Given the description of an element on the screen output the (x, y) to click on. 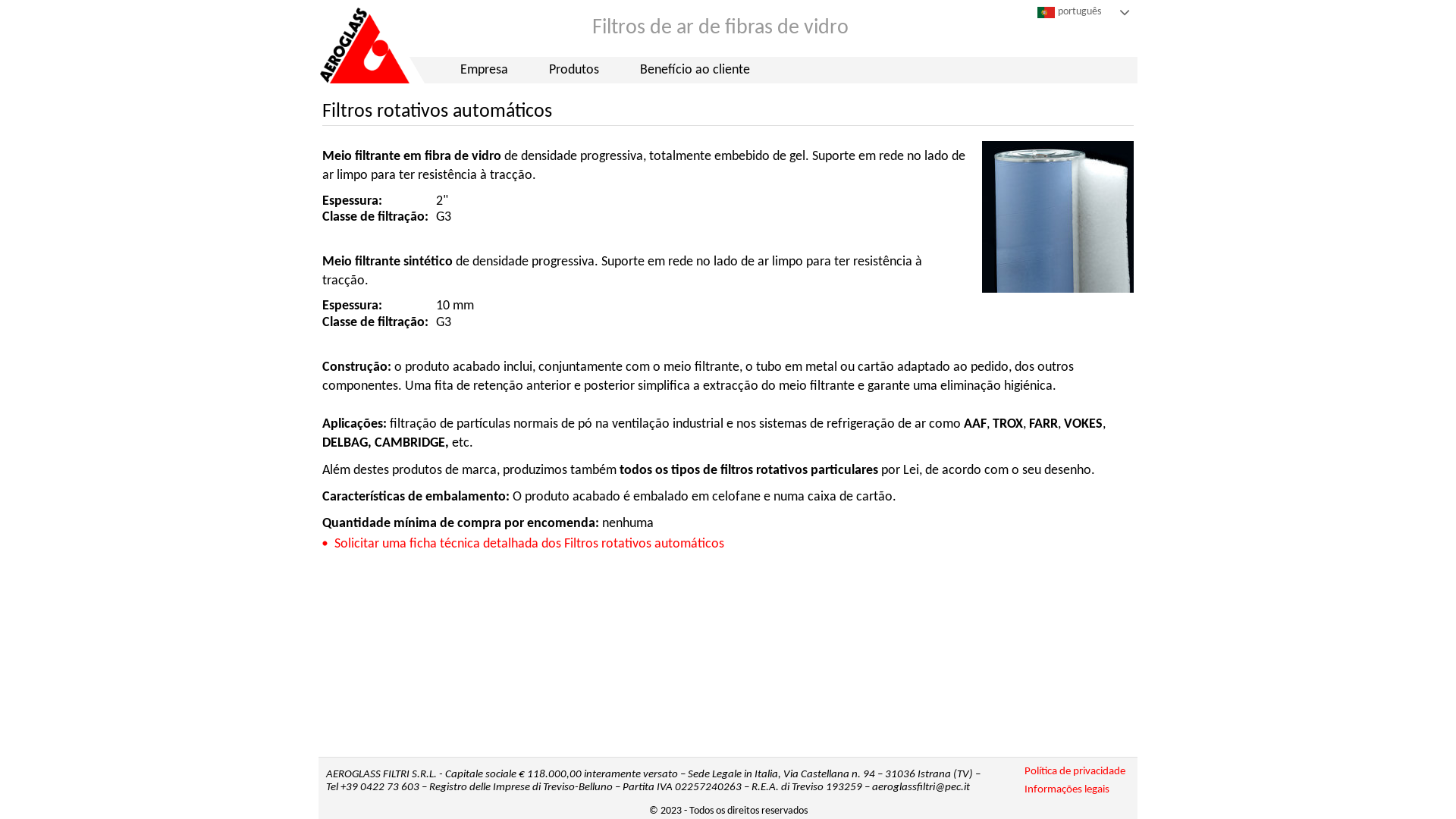
Produtos Element type: text (573, 69)
Empresa Element type: text (483, 69)
